Given the description of an element on the screen output the (x, y) to click on. 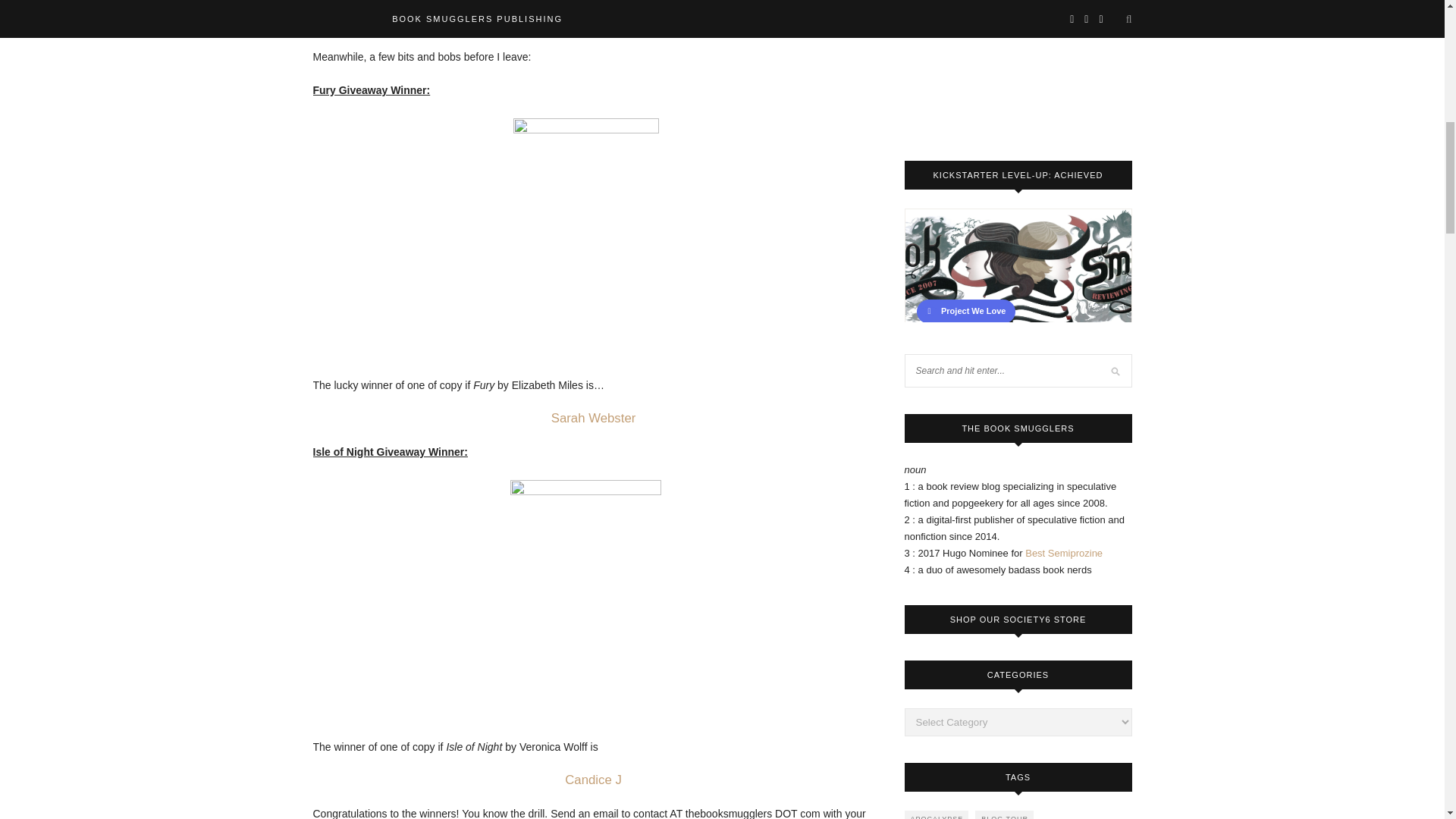
Candice J (592, 779)
Sarah Webster (593, 418)
